Given the description of an element on the screen output the (x, y) to click on. 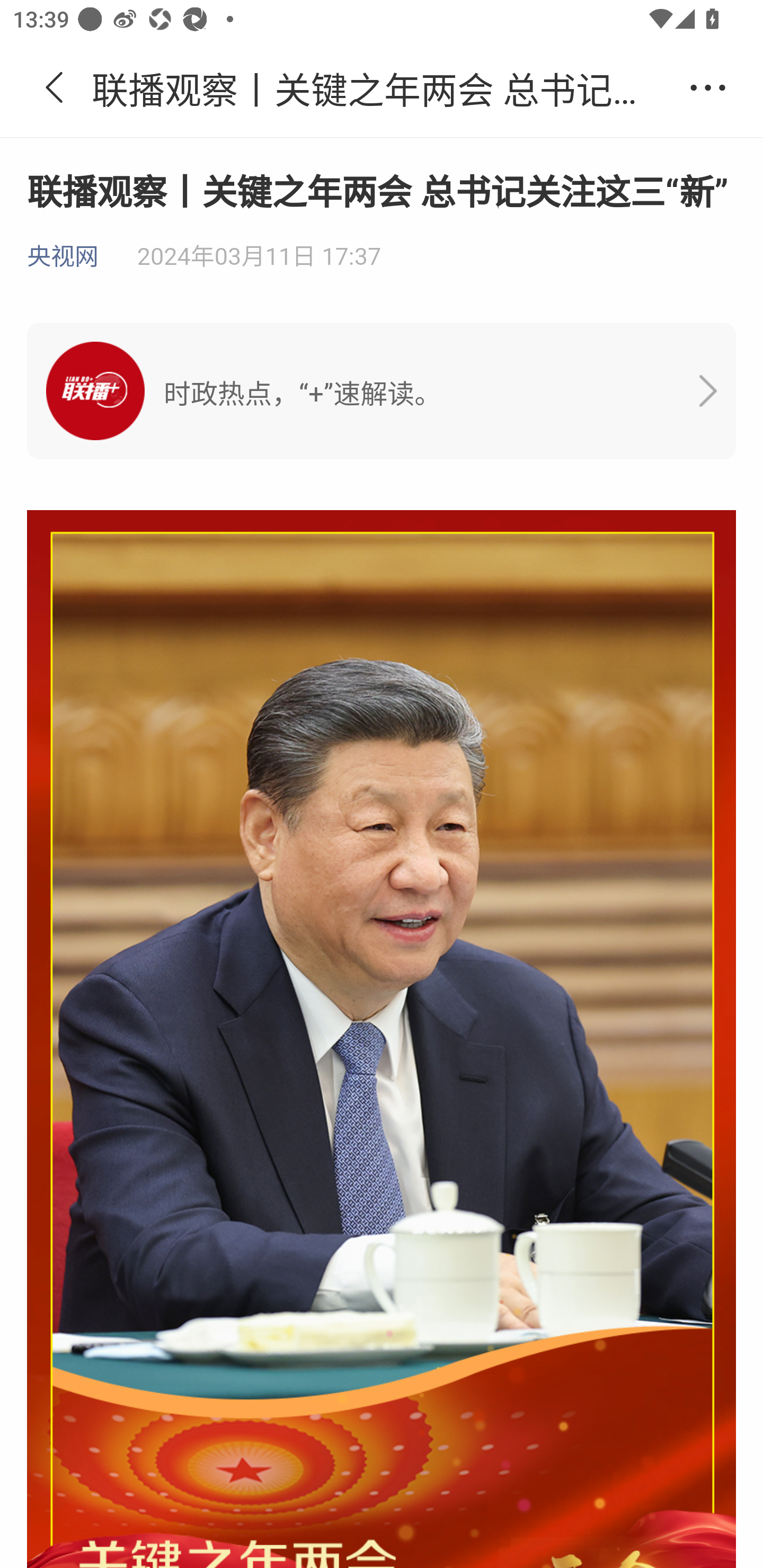
联播观察丨关键之年两会 总书记关注这三“新” (381, 87)
 返回 (54, 87)
 更多 (707, 87)
央视网 (62, 257)
时政热点，“+”速解读。 1617256979184_623 时政热点，“+”速解读。 (381, 390)
